Given the description of an element on the screen output the (x, y) to click on. 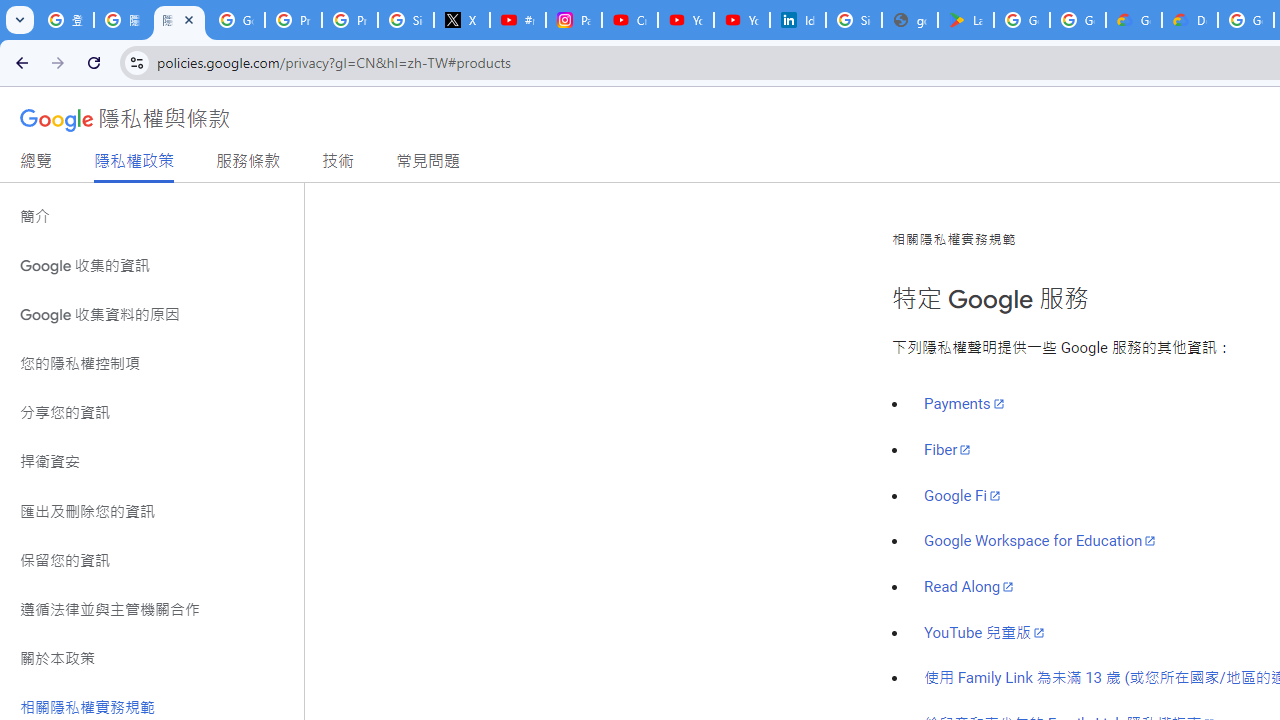
Read Along (969, 586)
Payments (964, 404)
Google Fi (962, 495)
Privacy Help Center - Policies Help (293, 20)
